Given the description of an element on the screen output the (x, y) to click on. 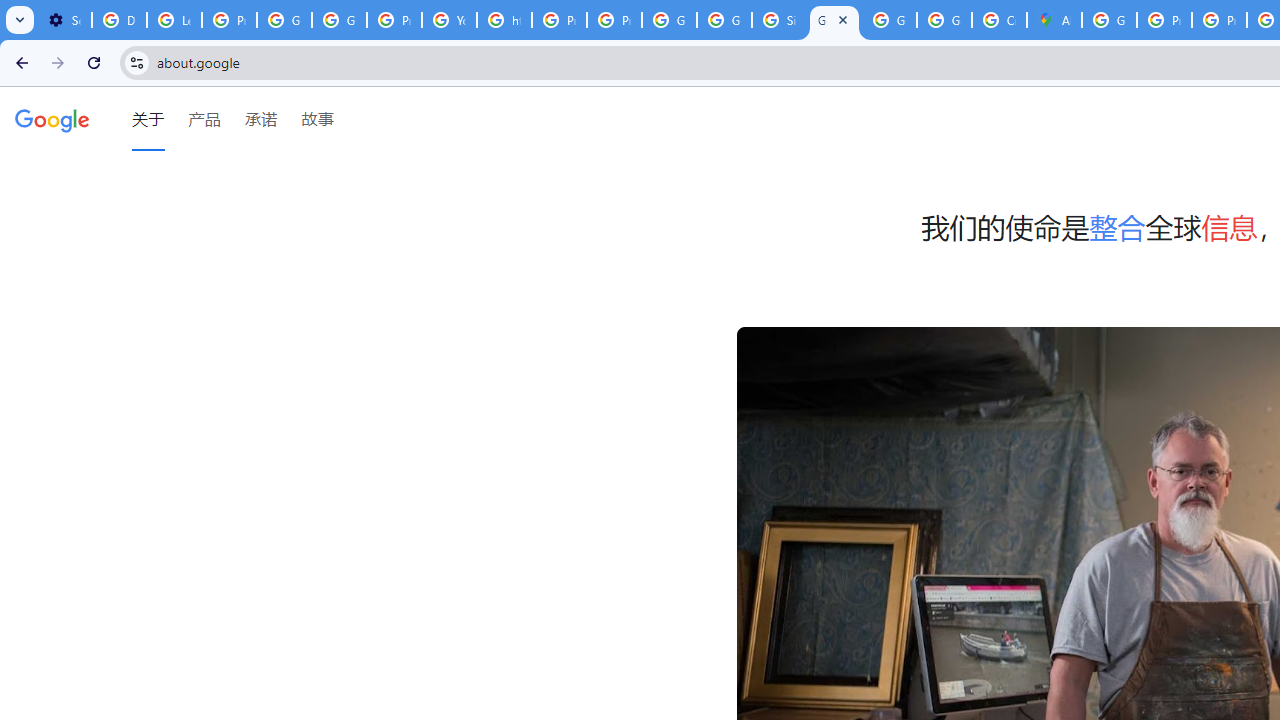
Privacy Help Center - Policies Help (1218, 20)
Google Account Help (284, 20)
Privacy Help Center - Policies Help (559, 20)
